Given the description of an element on the screen output the (x, y) to click on. 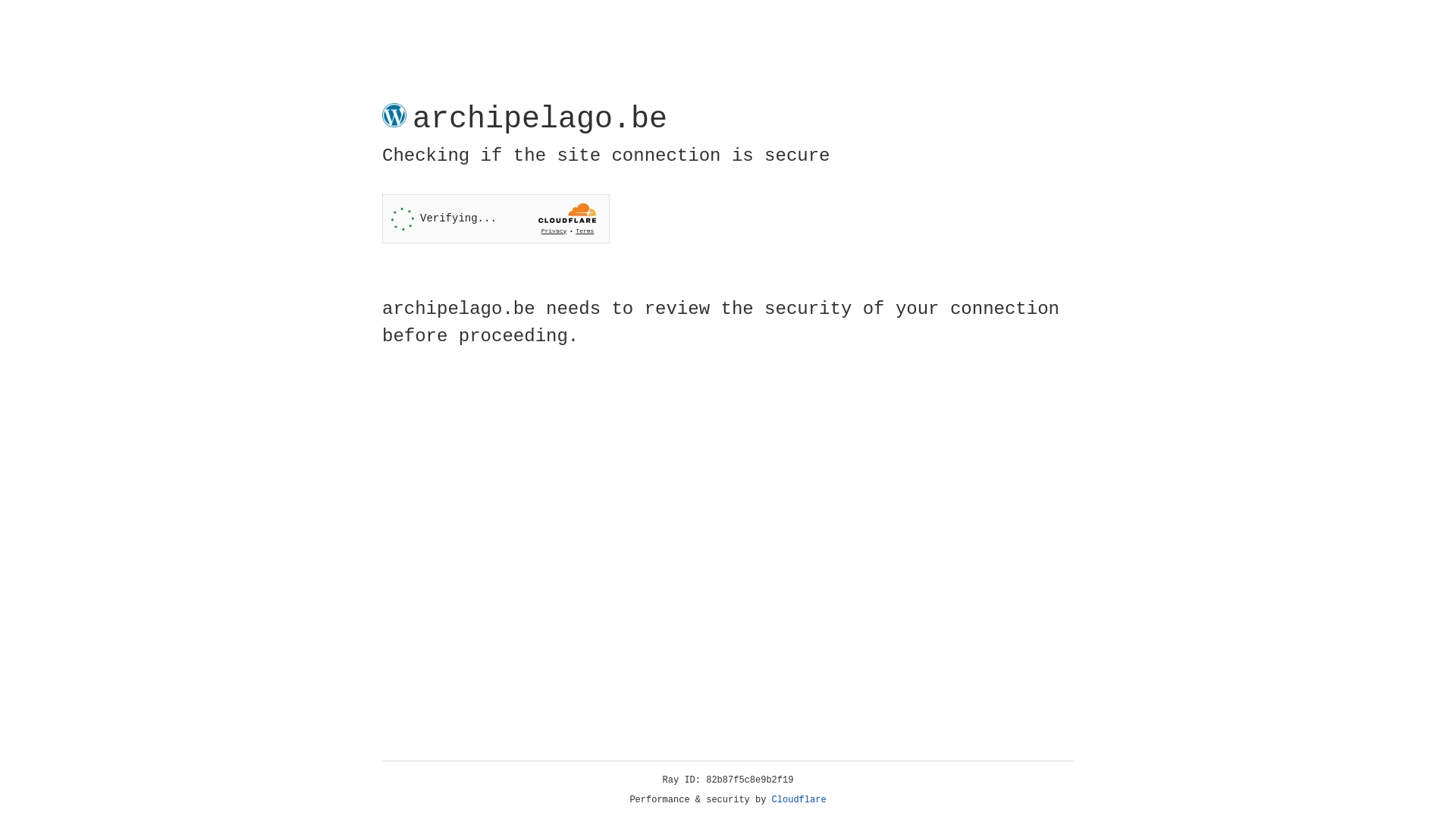
Widget containing a Cloudflare security challenge Element type: hover (495, 218)
Cloudflare Element type: text (798, 799)
